Given the description of an element on the screen output the (x, y) to click on. 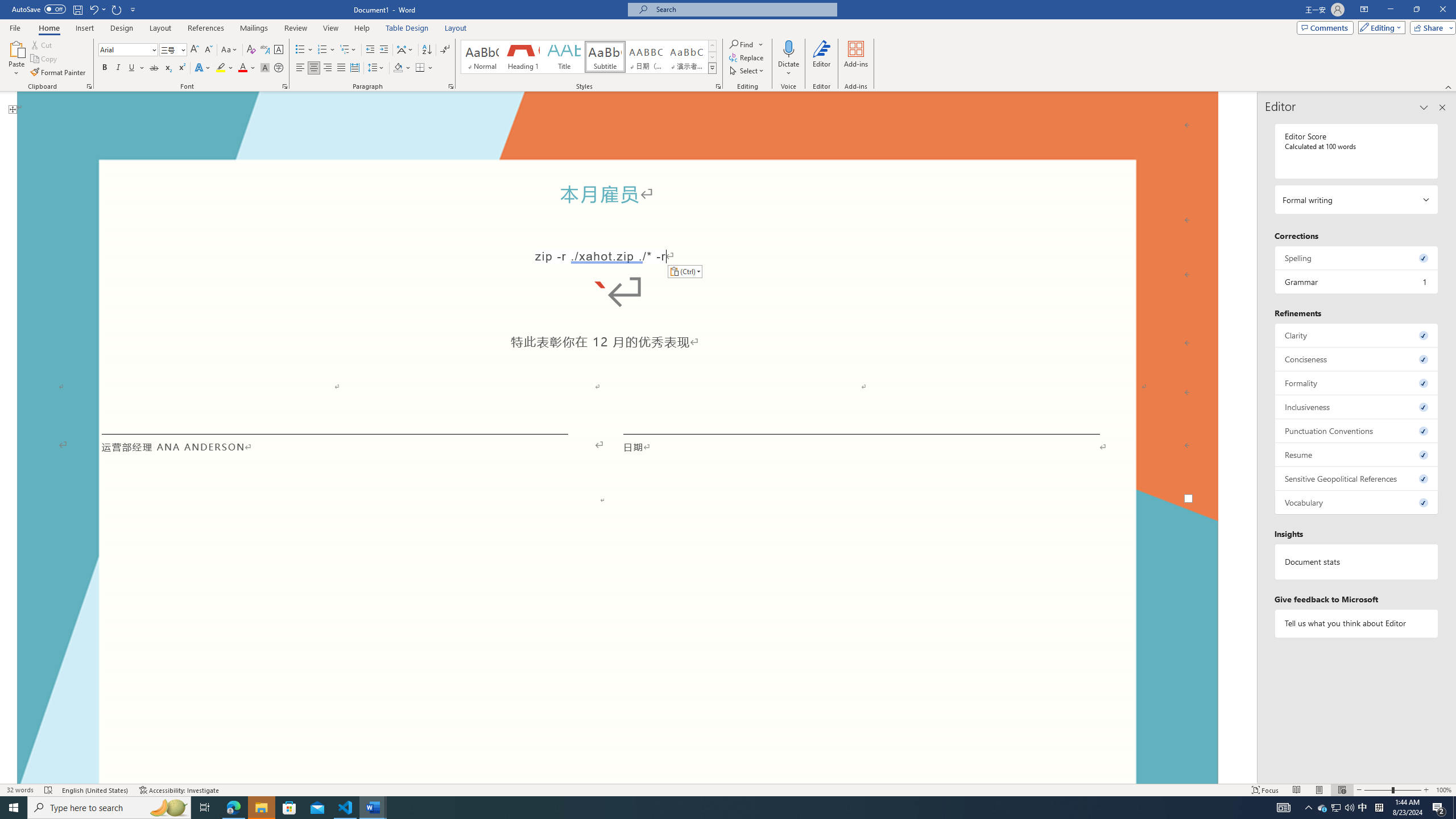
Paragraph... (450, 85)
Character Border (278, 49)
AutomationID: QuickStylesGallery (588, 56)
Asian Layout (405, 49)
Align Left (300, 67)
Spelling, 0 issues. Press space or enter to review items. (1356, 257)
Conciseness, 0 issues. Press space or enter to review items. (1356, 359)
Accessibility Checker Accessibility: Investigate (179, 790)
Italic (118, 67)
Cut (42, 44)
